Given the description of an element on the screen output the (x, y) to click on. 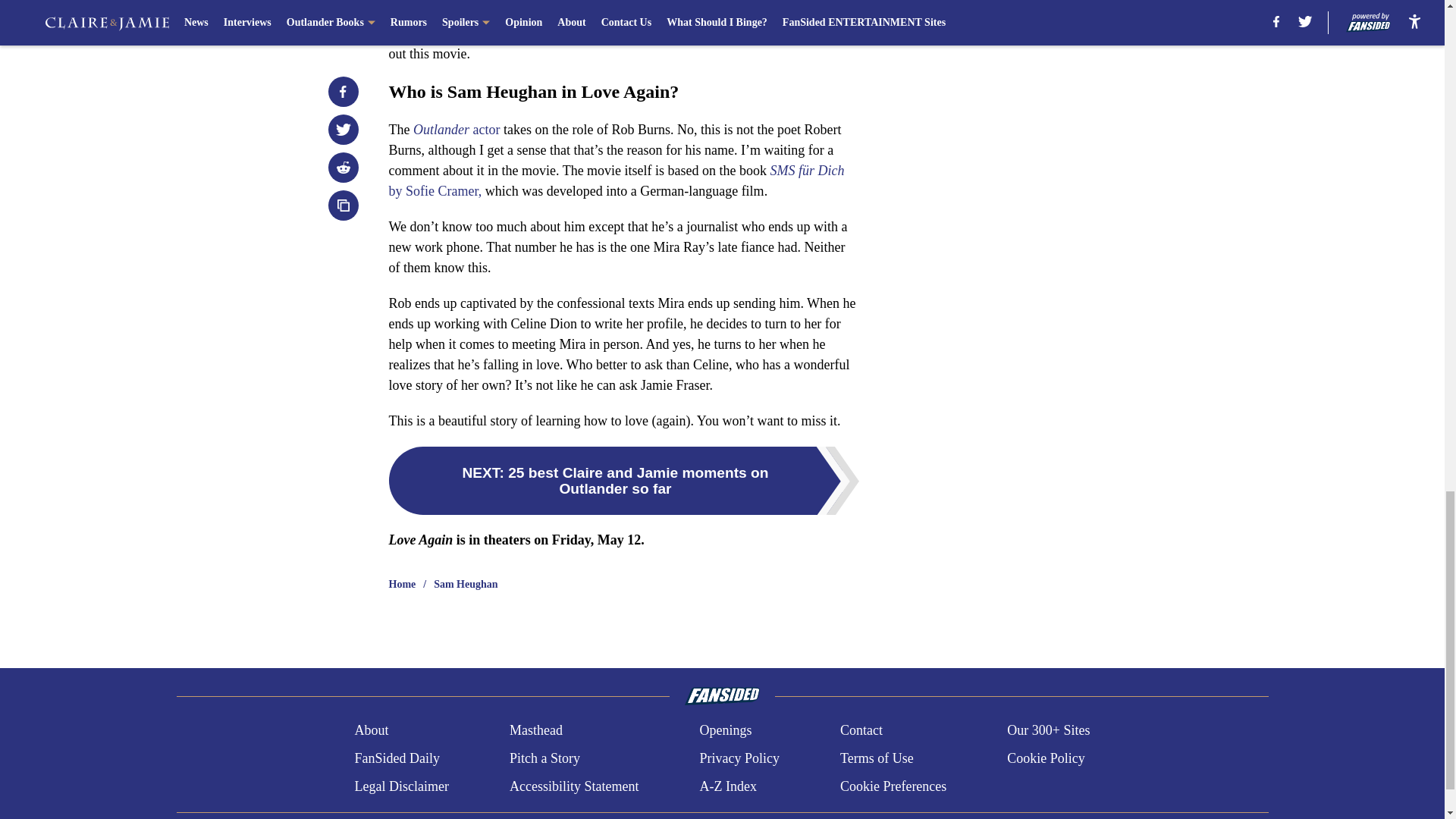
Pitch a Story (544, 758)
NEXT: 25 best Claire and Jamie moments on Outlander so far (623, 480)
About (370, 730)
FanSided Daily (396, 758)
Privacy Policy (738, 758)
Terms of Use (877, 758)
Outlander actor (456, 129)
Home (401, 584)
Openings (724, 730)
Contact (861, 730)
